Given the description of an element on the screen output the (x, y) to click on. 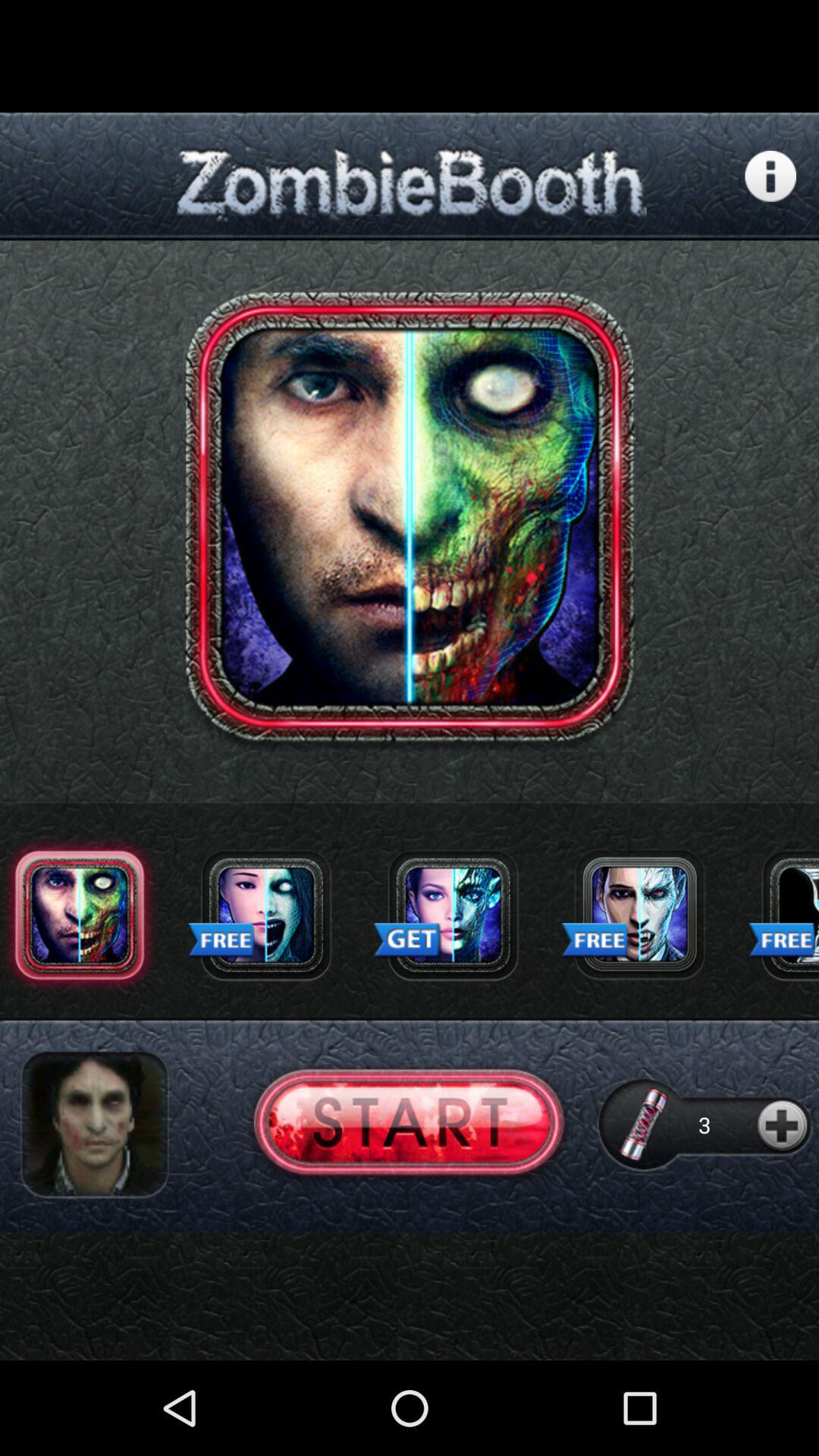
menu item selection (783, 914)
